Given the description of an element on the screen output the (x, y) to click on. 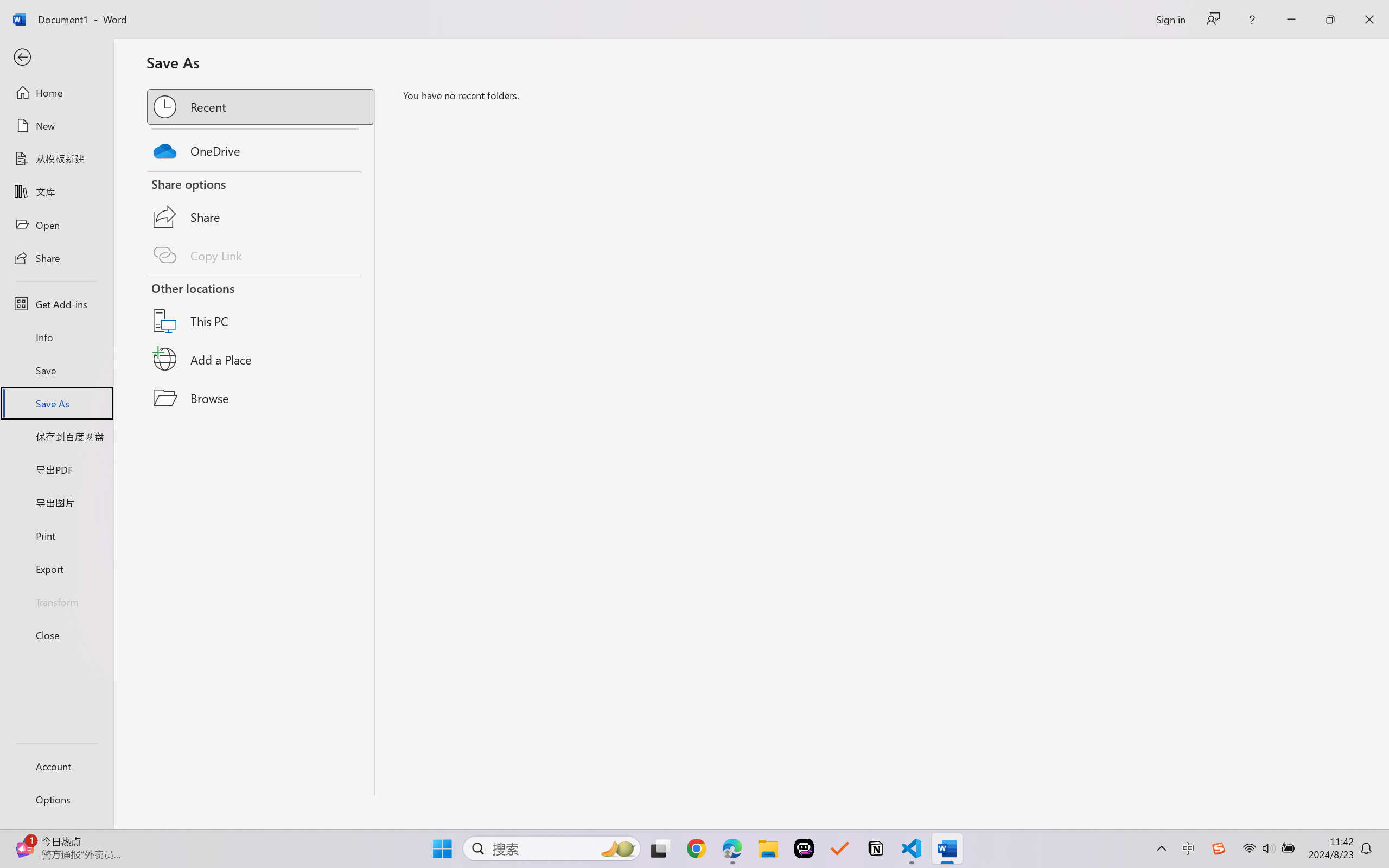
OneDrive (261, 147)
New (56, 125)
Browse (261, 397)
Saving Features (261, 449)
